Given the description of an element on the screen output the (x, y) to click on. 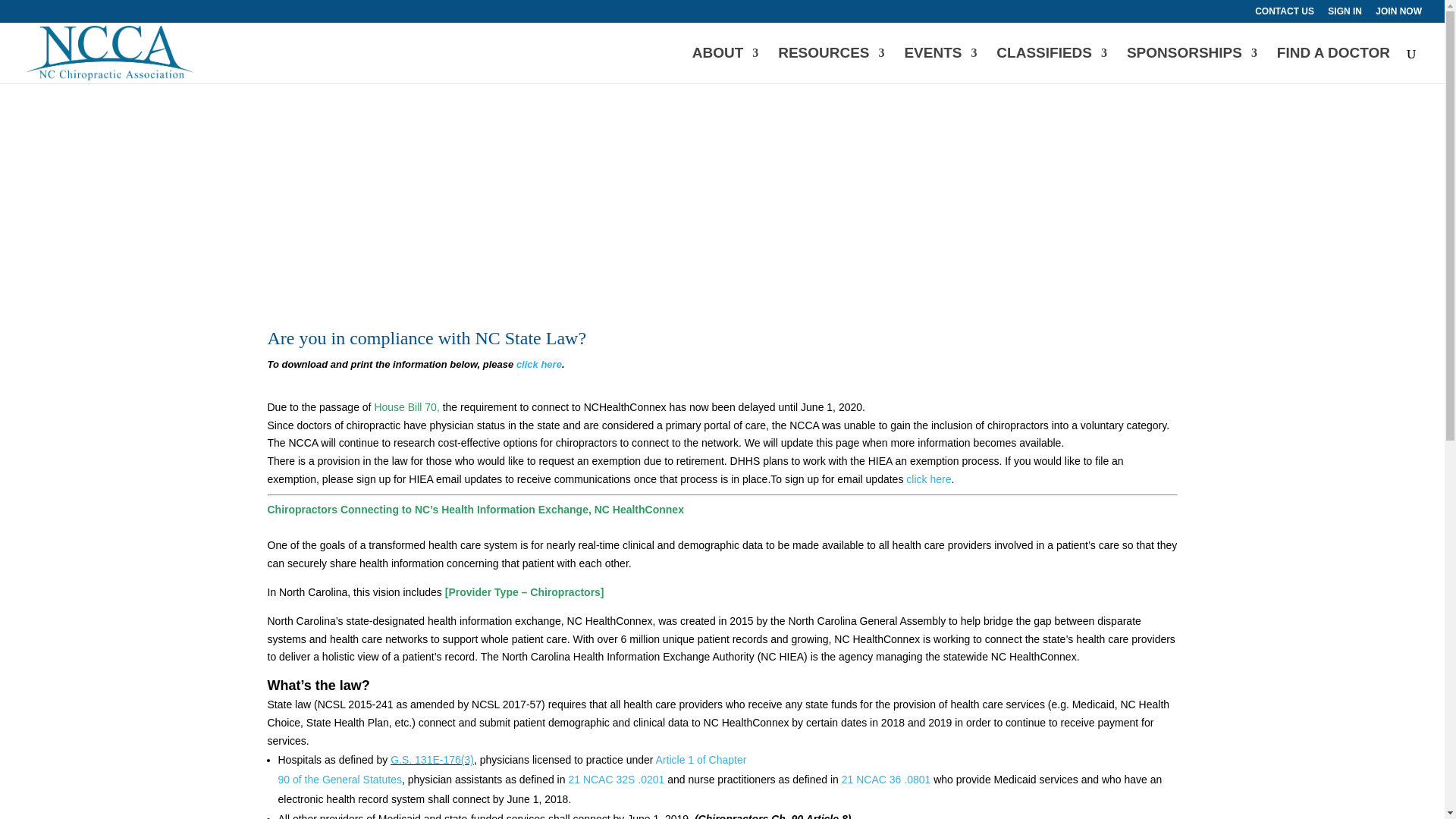
CLASSIFIEDS (1050, 65)
SIGN IN (1344, 14)
House Bill 70 (405, 407)
CONTACT US (1284, 14)
FIND A DOCTOR (1333, 65)
ABOUT (725, 65)
JOIN NOW (1398, 14)
click here (539, 364)
EVENTS (940, 65)
RESOURCES (830, 65)
SPONSORSHIPS (1191, 65)
